Given the description of an element on the screen output the (x, y) to click on. 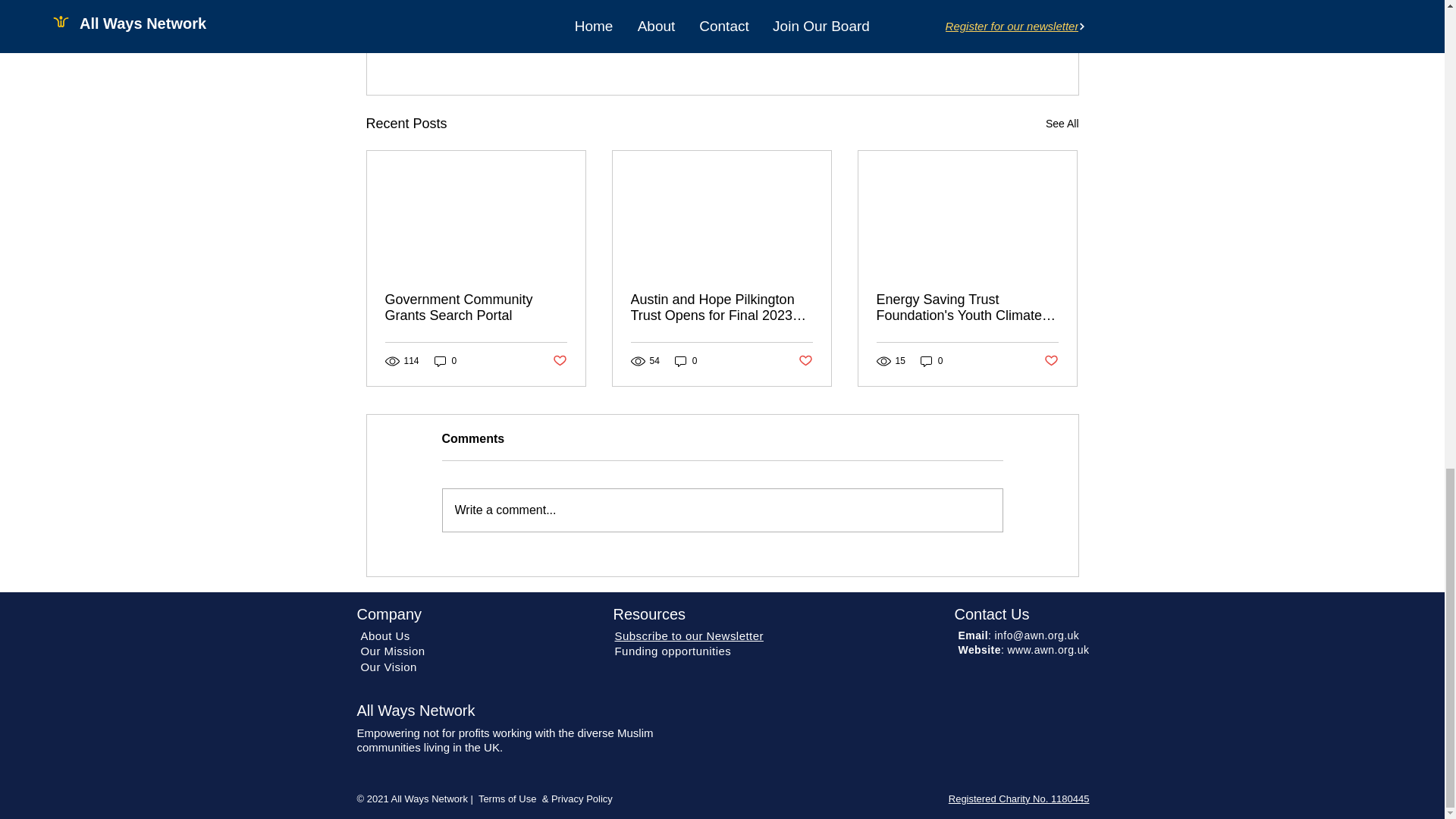
Subscribe to our Newsletter (688, 635)
About Us (385, 635)
Post not marked as liked (995, 41)
See All (1061, 124)
Our Mission (393, 650)
Post not marked as liked (1050, 360)
Funding opportunities (672, 650)
0 (685, 360)
Our Vision (388, 666)
Government Community Grants Search Portal (476, 307)
0 (445, 360)
Post not marked as liked (558, 360)
Write a comment... (722, 509)
